Given the description of an element on the screen output the (x, y) to click on. 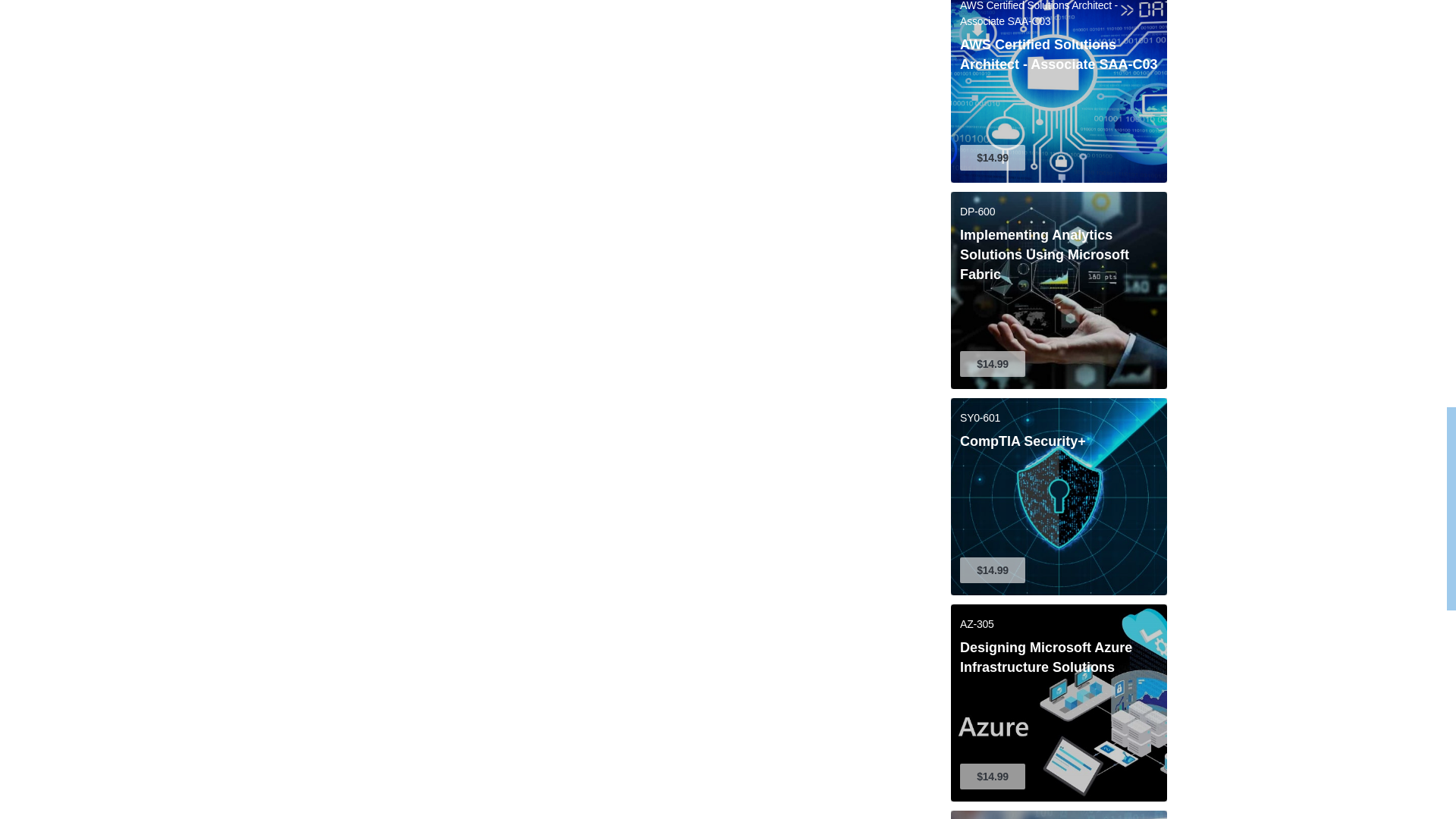
Microsoft Azure AI Fundamentals Training Course (1058, 814)
